Given the description of an element on the screen output the (x, y) to click on. 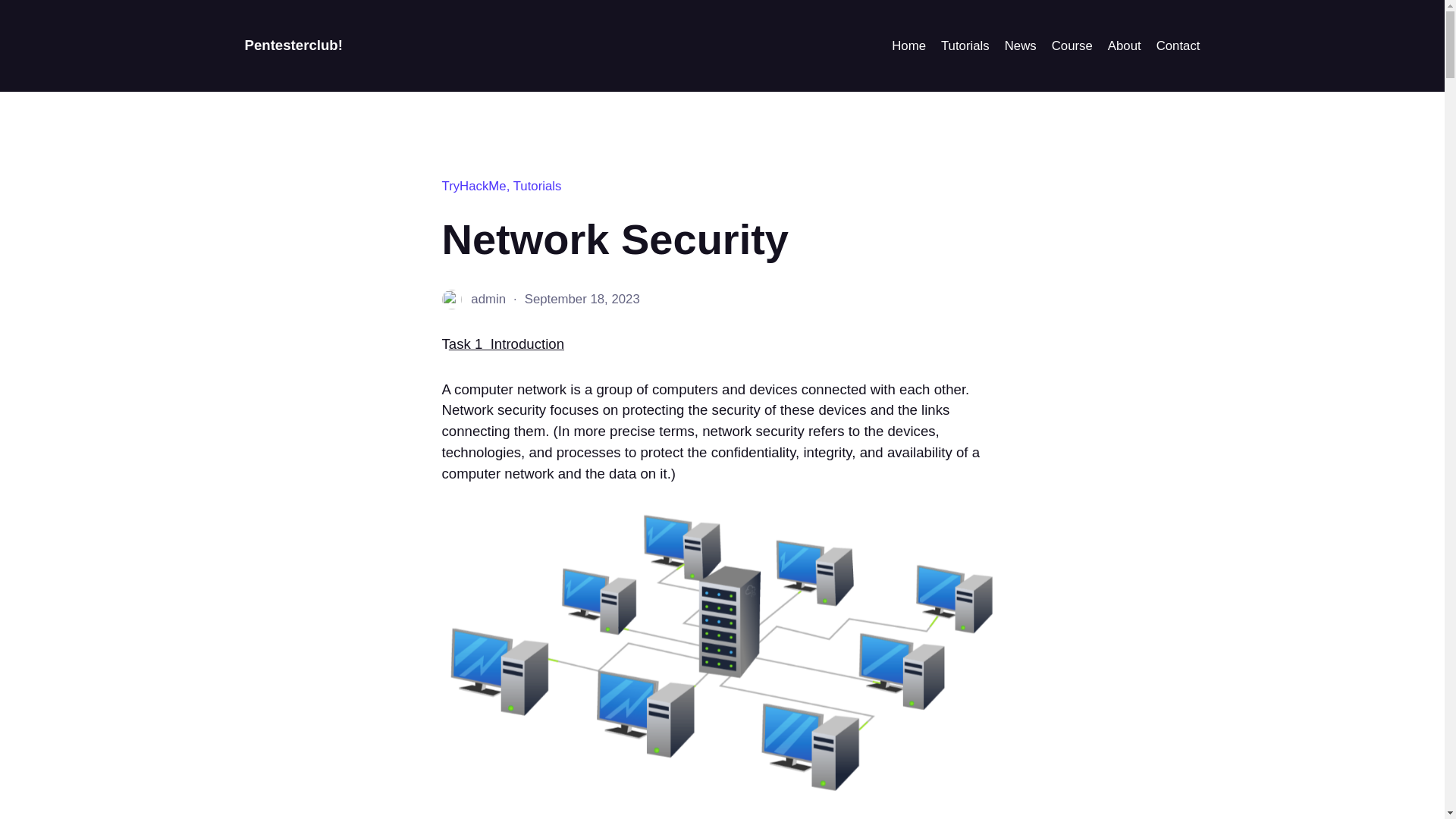
Pentesterclub! (293, 44)
TryHackMe (473, 186)
Home (908, 45)
Course (1072, 45)
About (1124, 45)
Contact (1177, 45)
News (1020, 45)
ask 1  Introduction (506, 343)
Tutorials (965, 45)
Tutorials (537, 186)
